Given the description of an element on the screen output the (x, y) to click on. 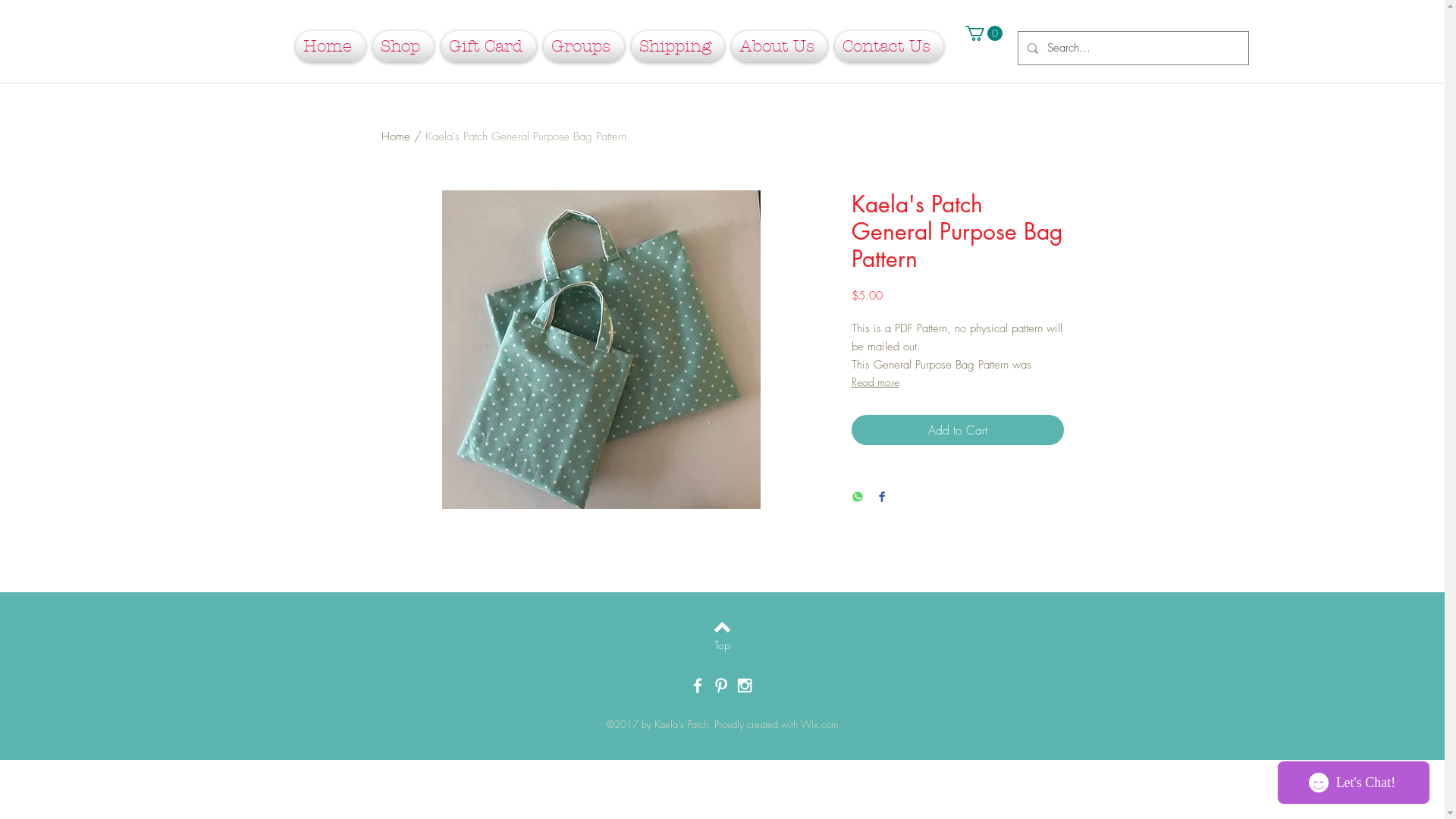
Groups Element type: text (583, 46)
Shipping Element type: text (677, 46)
Wix.com Element type: text (818, 724)
Add to Cart Element type: text (956, 429)
Contact Us Element type: text (887, 46)
Kaela's Patch General Purpose Bag Pattern Element type: text (524, 136)
Top Element type: text (721, 644)
Gift Card Element type: text (487, 46)
About Us Element type: text (779, 46)
0 Element type: text (982, 32)
Home Element type: text (332, 46)
Shop Element type: text (402, 46)
Read more Element type: text (956, 381)
Home Element type: text (394, 136)
